Given the description of an element on the screen output the (x, y) to click on. 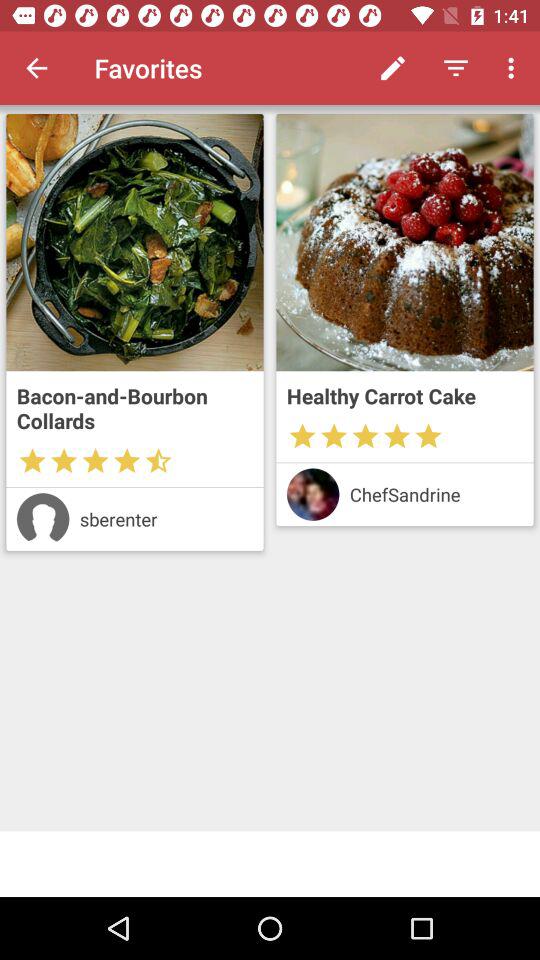
press the app to the right of favorites item (392, 67)
